Given the description of an element on the screen output the (x, y) to click on. 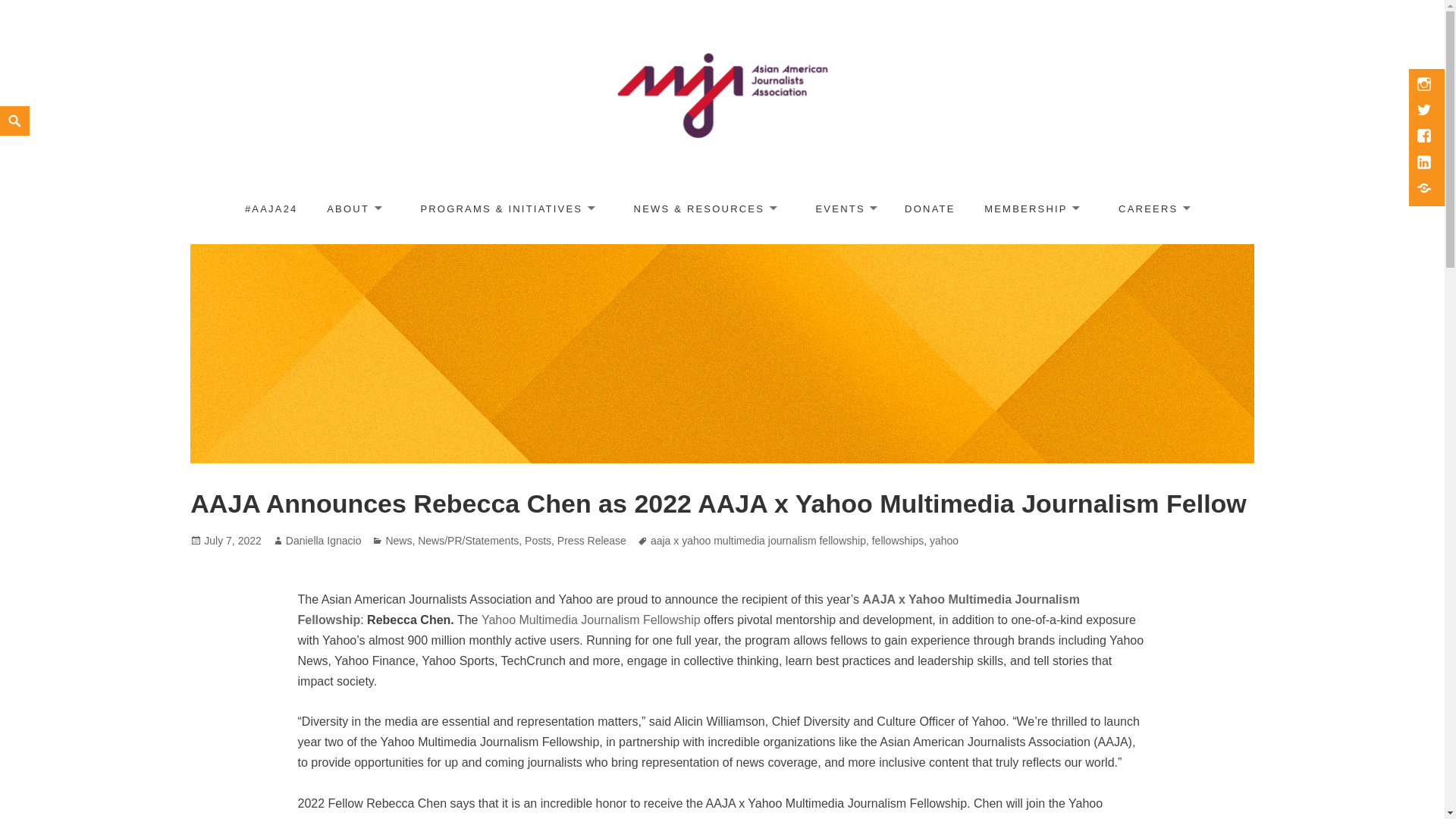
EVENTS (844, 210)
ABOUT (353, 210)
Asian American Journalists Association (195, 189)
